Given the description of an element on the screen output the (x, y) to click on. 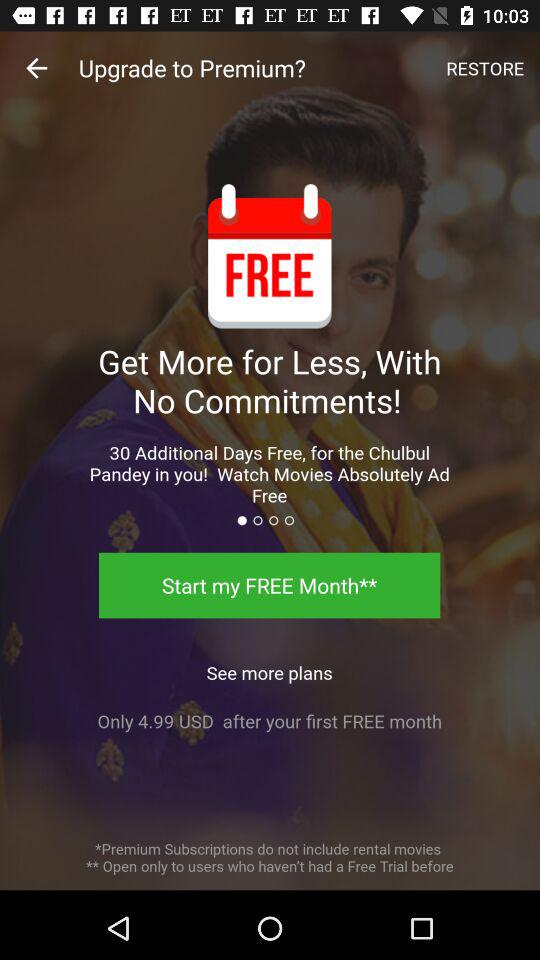
turn off icon above the get more for icon (485, 67)
